Given the description of an element on the screen output the (x, y) to click on. 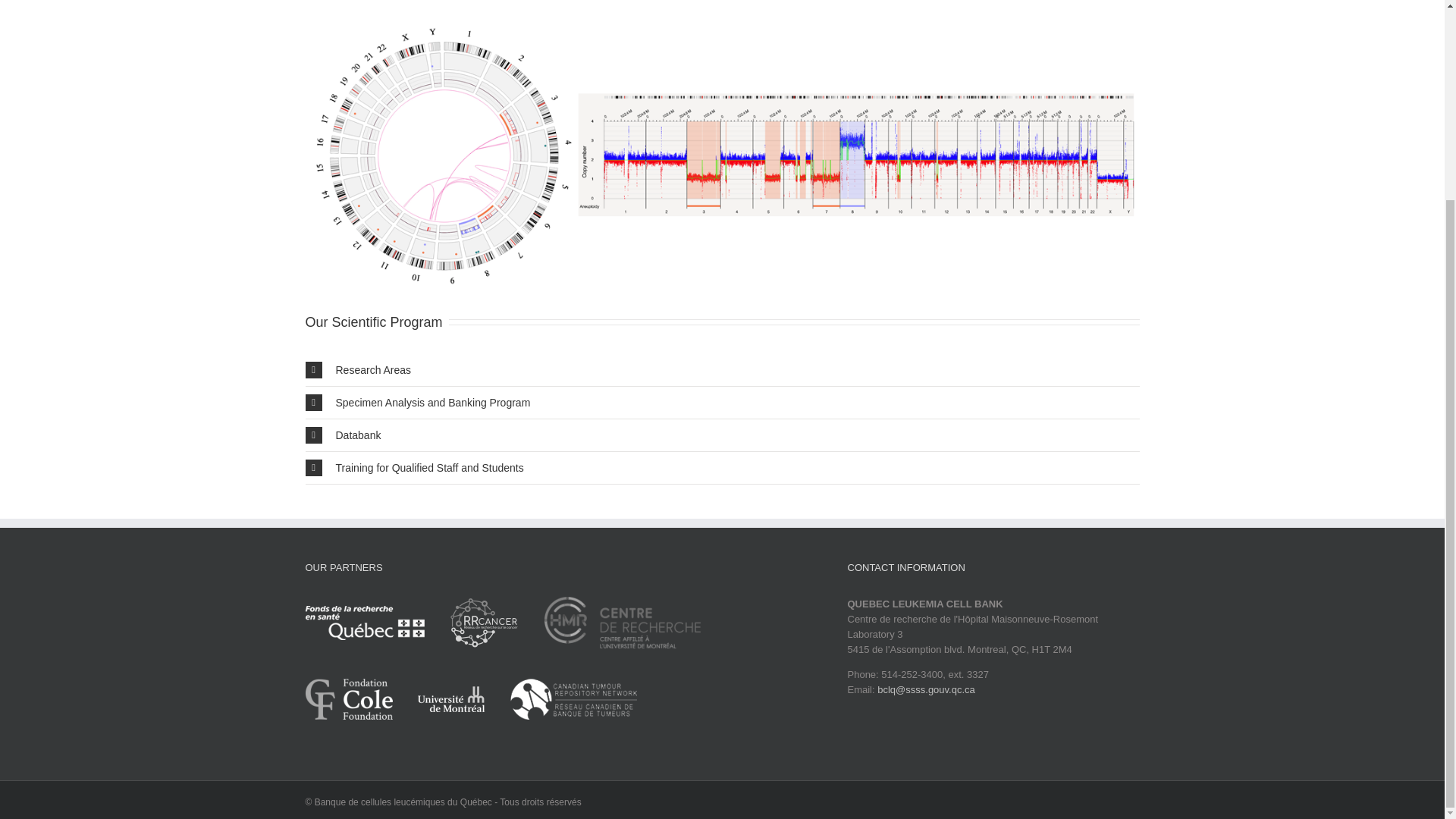
Contact us by Email (926, 689)
Cole Foundation (359, 706)
The Canadian Tumour Repository Network (574, 706)
